Given the description of an element on the screen output the (x, y) to click on. 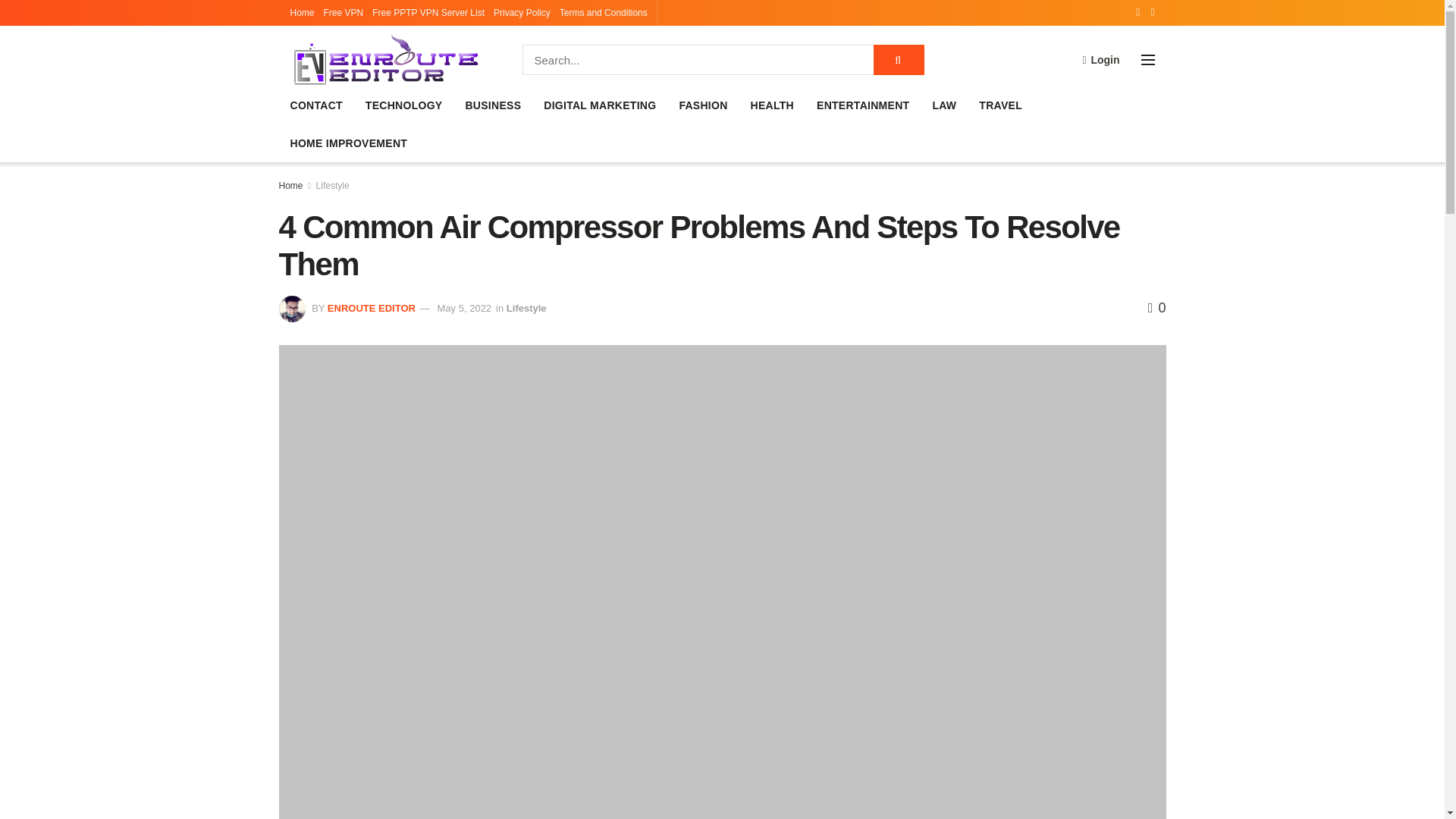
BUSINESS (492, 105)
DIGITAL MARKETING (599, 105)
LAW (943, 105)
CONTACT (315, 105)
Free PPTP VPN Server List (428, 12)
FASHION (702, 105)
Home (301, 12)
HEALTH (772, 105)
ENTERTAINMENT (862, 105)
Terms and Conditions (603, 12)
TRAVEL (1000, 105)
Free VPN (343, 12)
HOME IMPROVEMENT (348, 142)
Login (1100, 59)
Privacy Policy (521, 12)
